Given the description of an element on the screen output the (x, y) to click on. 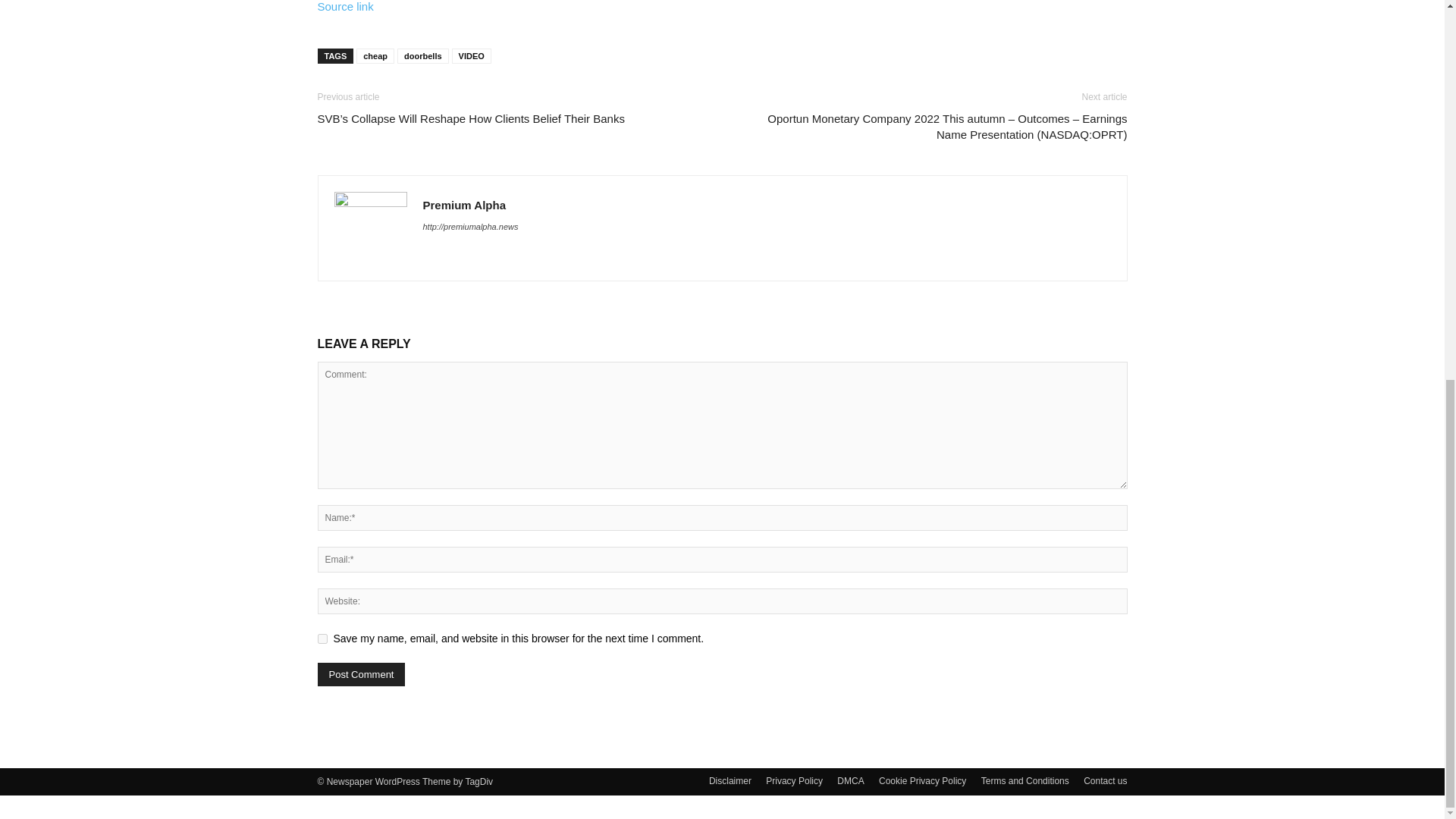
Source link (344, 6)
doorbells (422, 55)
cheap (375, 55)
Premium Alpha (464, 205)
yes (321, 638)
Post Comment (360, 674)
VIDEO (471, 55)
